Given the description of an element on the screen output the (x, y) to click on. 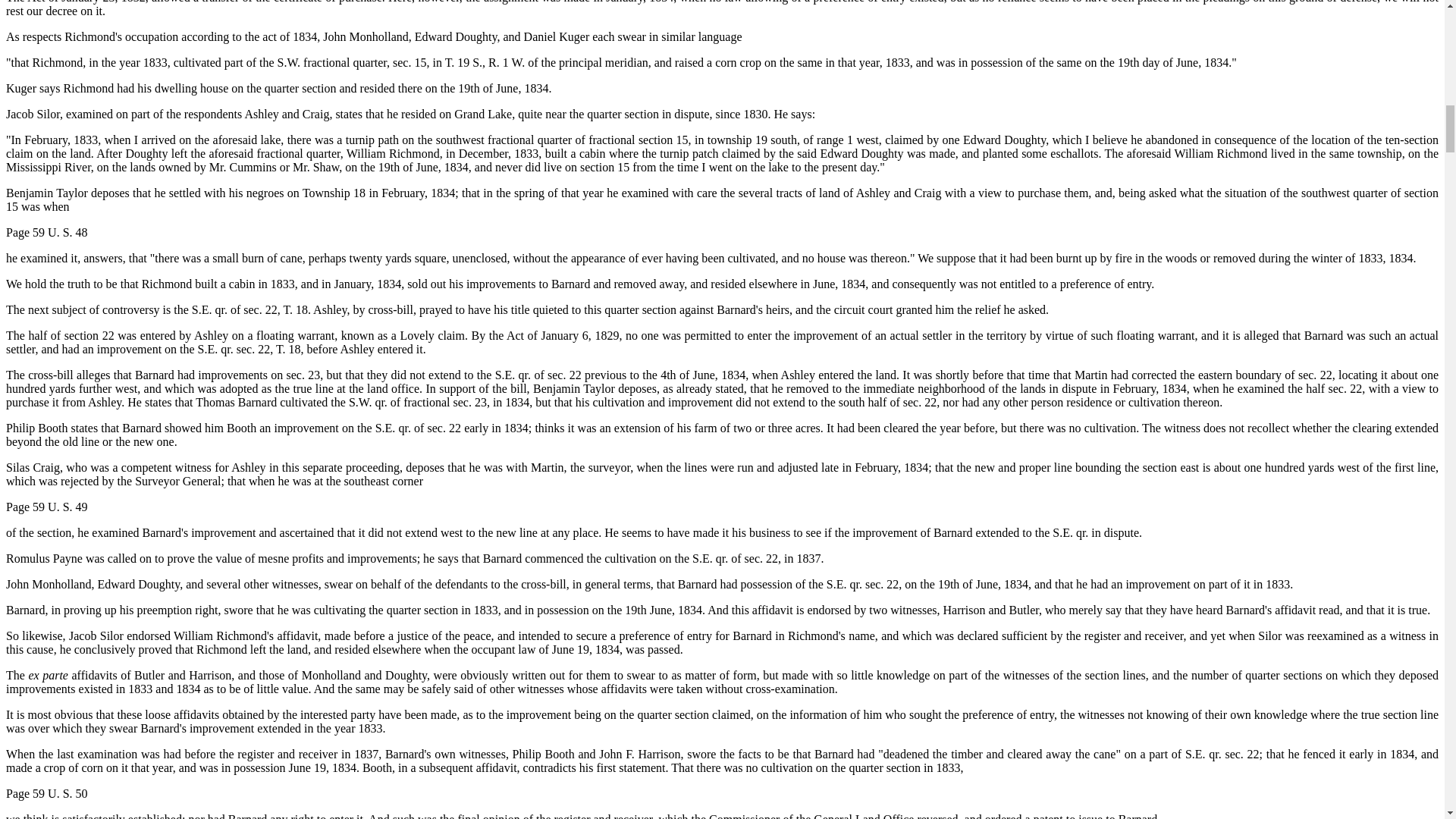
Page 59 U. S. 49 (46, 506)
Page 59 U. S. 50 (46, 793)
Page 59 U. S. 48 (46, 232)
